Given the description of an element on the screen output the (x, y) to click on. 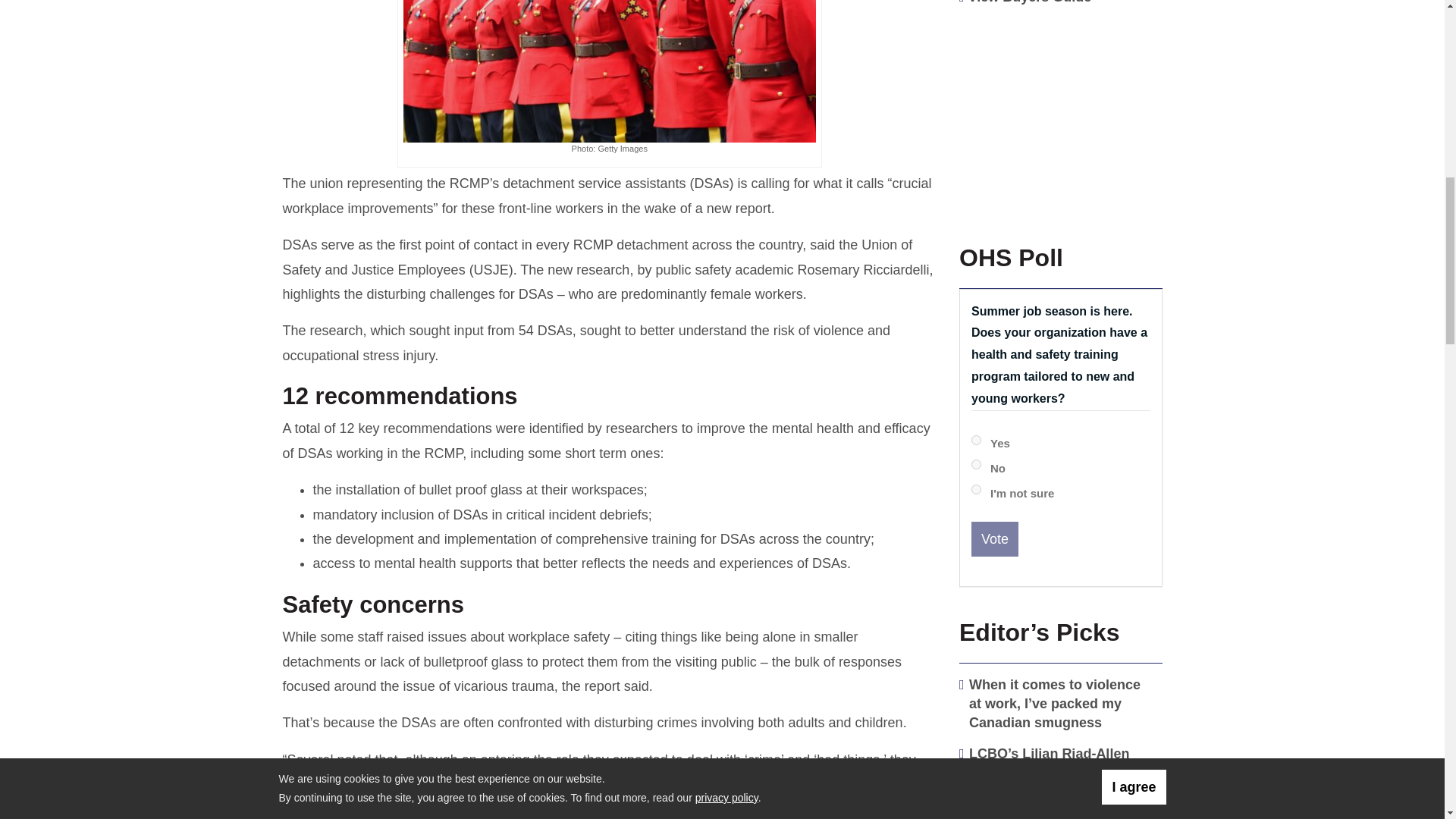
gpoll135233128 (976, 439)
Vote (994, 538)
gpoll188dfb902 (976, 464)
gpoll141fdf755 (976, 489)
3rd party ad content (1057, 113)
